Given the description of an element on the screen output the (x, y) to click on. 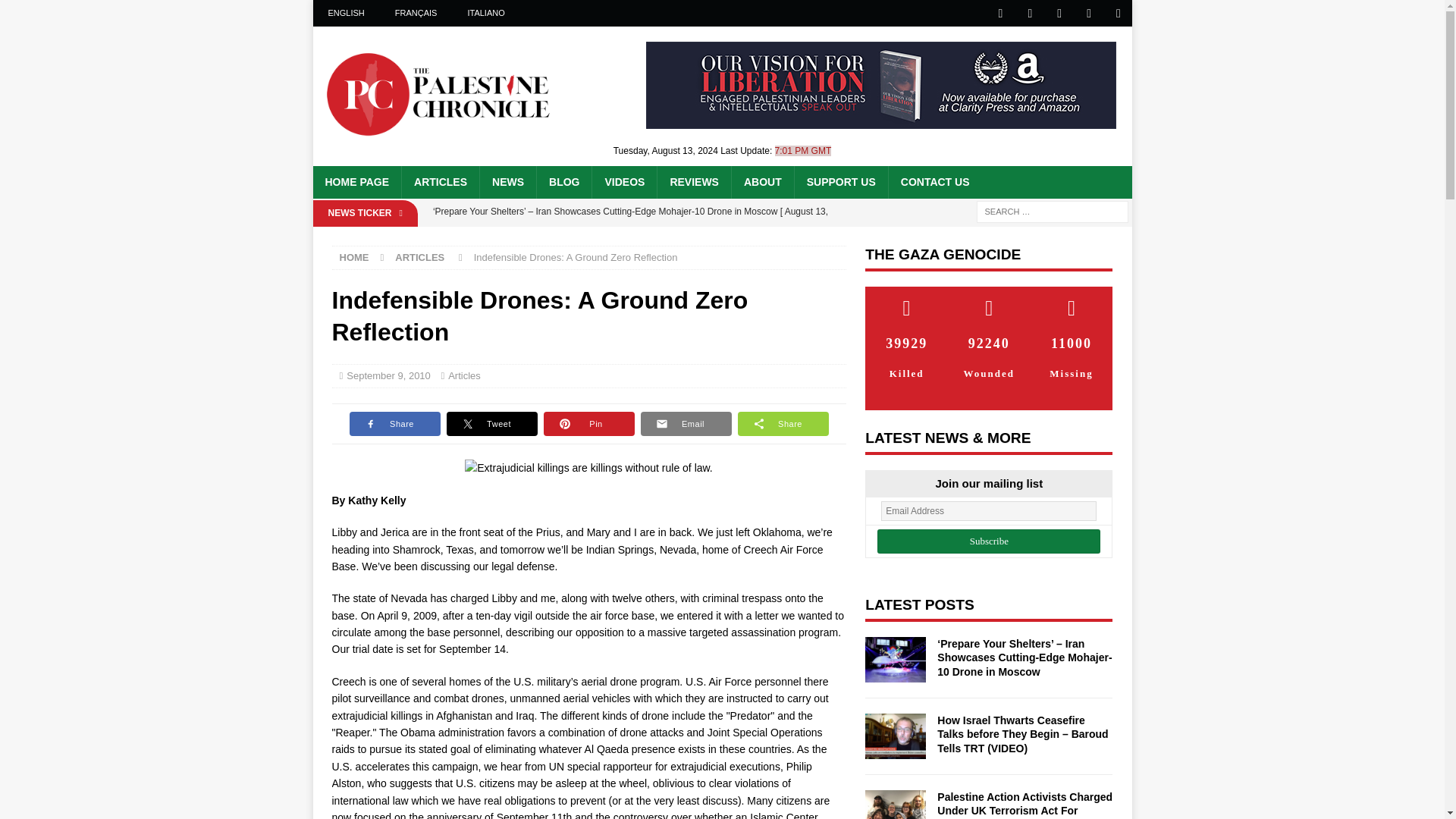
VIDEOS (623, 182)
REVIEWS (693, 182)
ABOUT (761, 182)
ARTICLES (440, 182)
Search (56, 11)
SUPPORT US (840, 182)
Extrajudicial killings are killings without rule of law. (587, 467)
HOME PAGE (357, 182)
CONTACT US (934, 182)
